Given the description of an element on the screen output the (x, y) to click on. 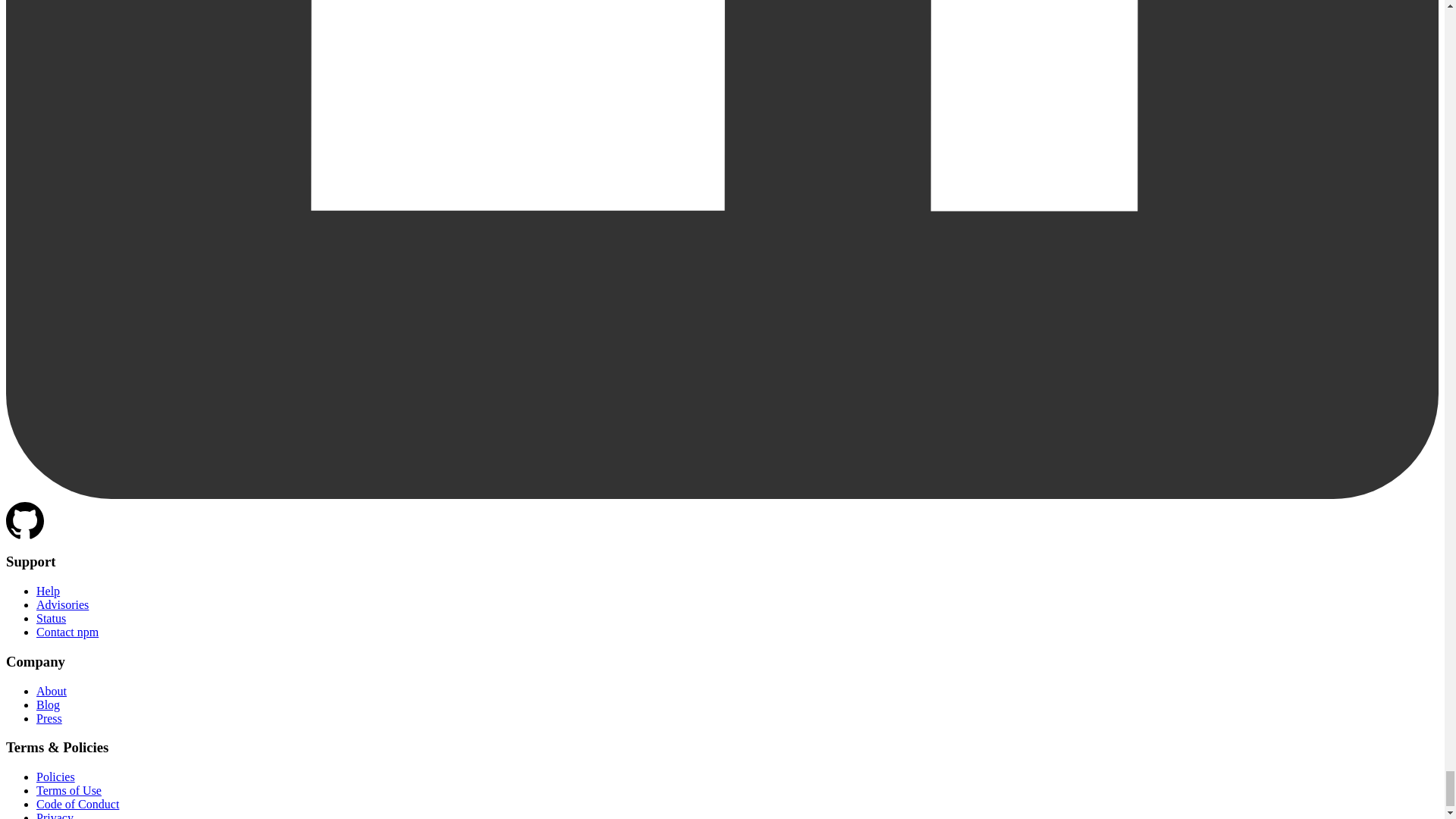
Help (47, 590)
Contact npm (67, 631)
Advisories (62, 604)
Status (50, 617)
